Given the description of an element on the screen output the (x, y) to click on. 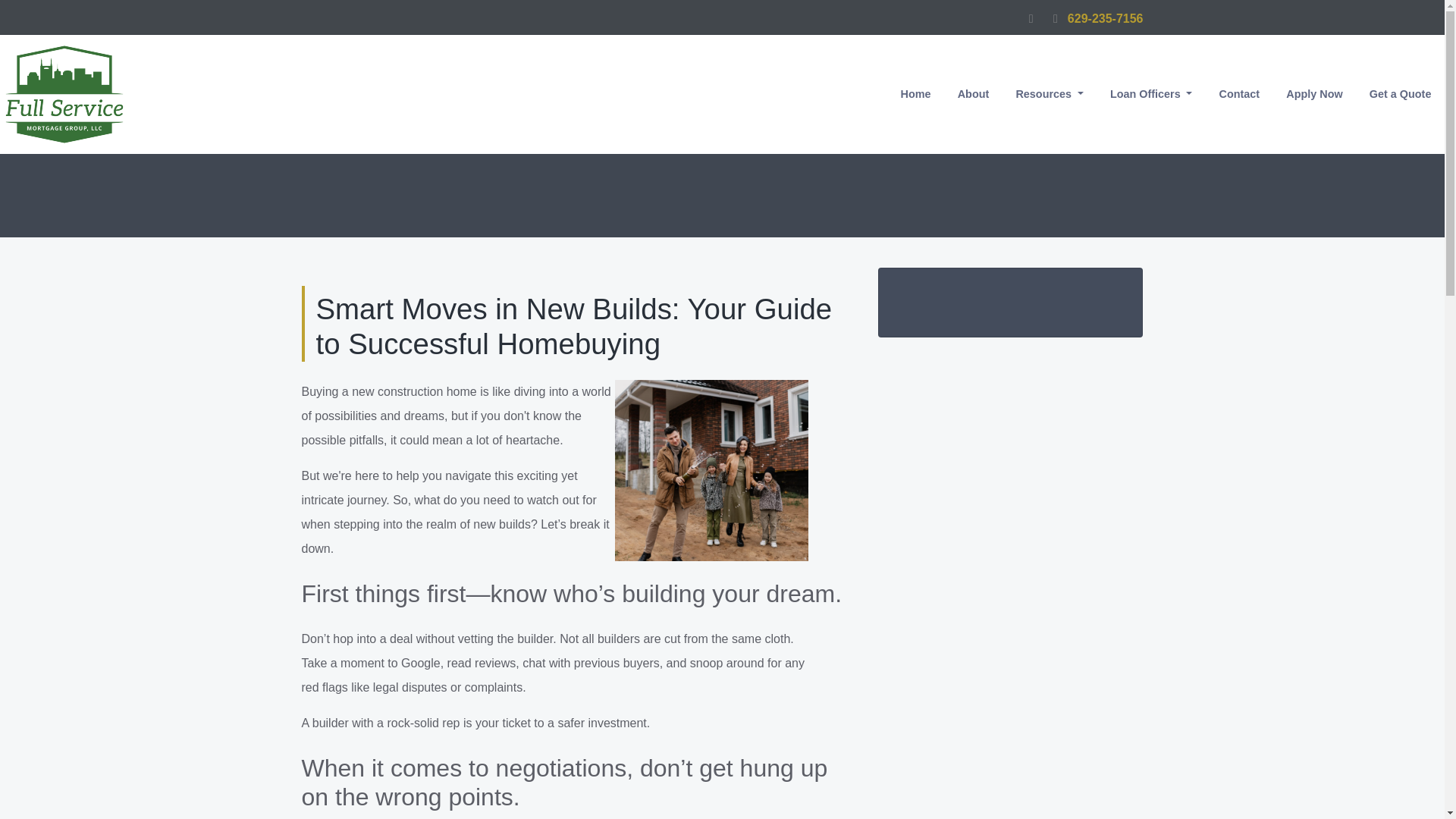
Apply Now (1314, 93)
Get a Quote (1400, 93)
Loan Officers (1151, 93)
Resources (1049, 93)
629-235-7156 (1092, 18)
